Given the description of an element on the screen output the (x, y) to click on. 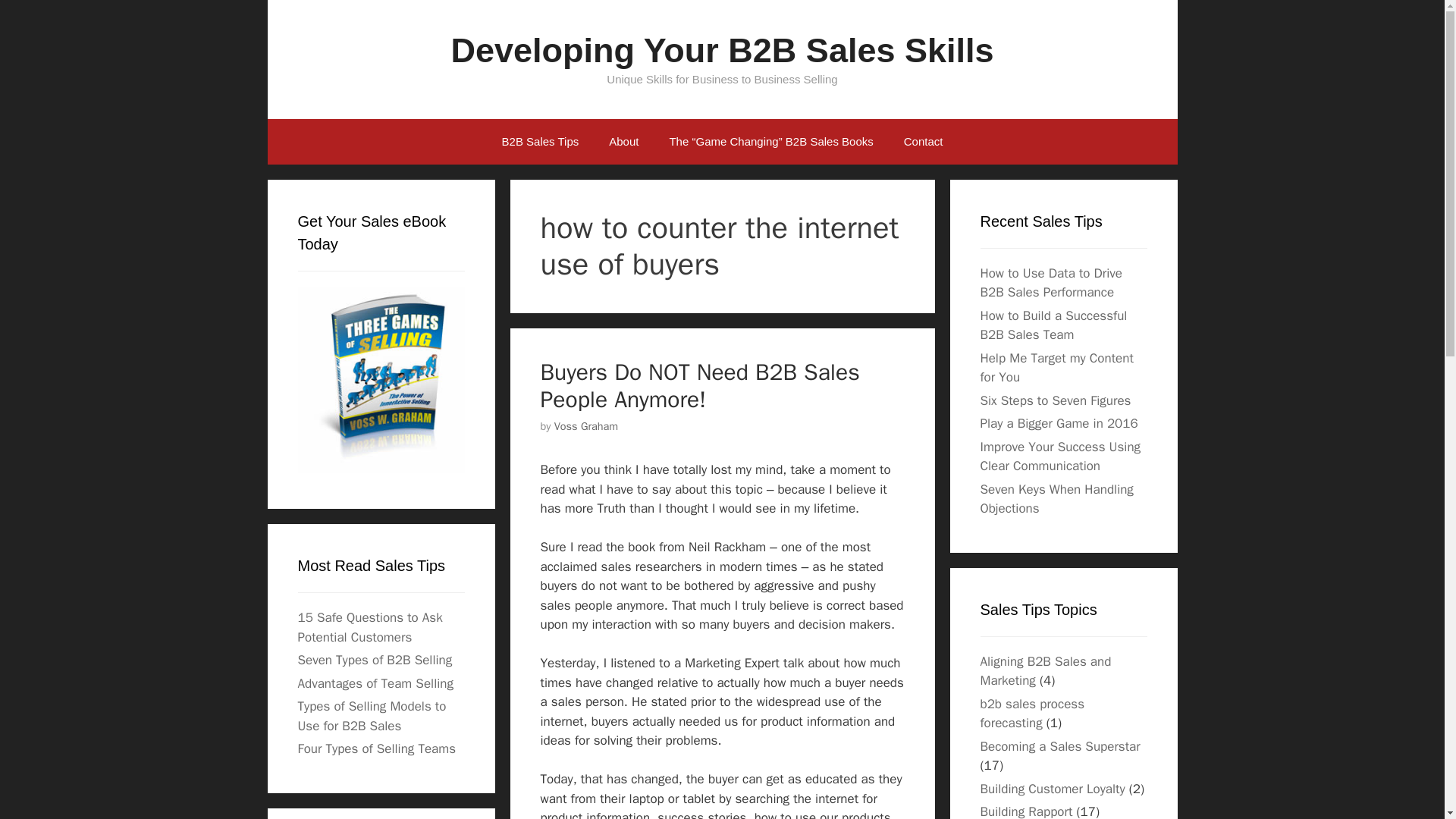
Four Types of Selling Teams (376, 748)
View all posts by Voss Graham (586, 426)
Four Types of Selling Teams (376, 748)
Developing Your B2B Sales Skills (720, 50)
Building Rapport for Strong Relationships (1025, 811)
Voss Graham (586, 426)
15 Safe Questions to Ask Potential Customers (369, 627)
Advantages of Team Selling (374, 683)
Buyers Do NOT Need B2B Sales People Anymore! (699, 385)
About (623, 140)
